Given the description of an element on the screen output the (x, y) to click on. 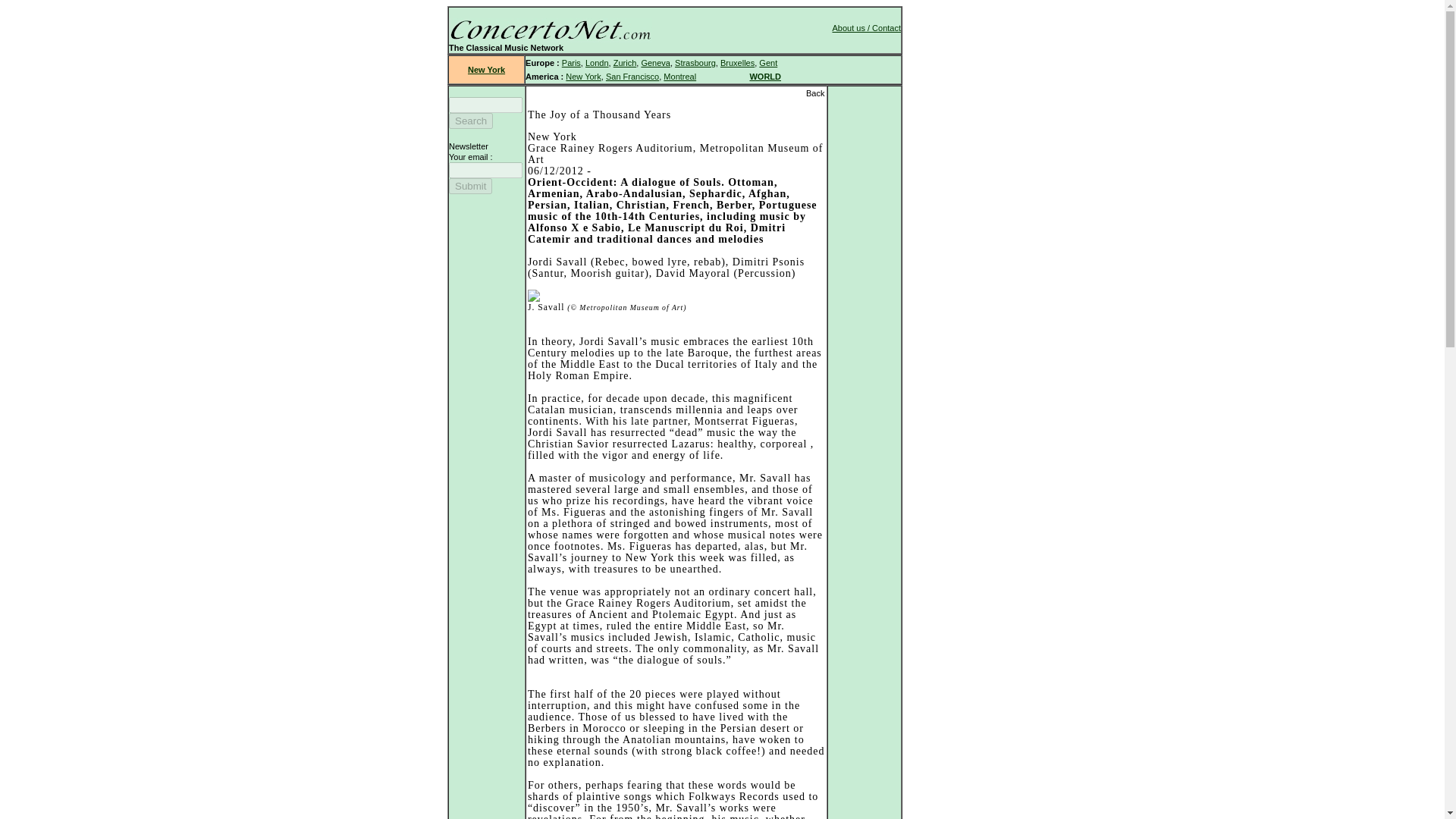
Geneva (654, 62)
Search (470, 120)
Paris (571, 62)
Zurich (624, 62)
New York (486, 69)
Back (815, 92)
Strasbourg (695, 62)
Submit (470, 186)
Gent (767, 62)
Londn (596, 62)
San Francisco (632, 76)
Search (470, 120)
Submit (470, 186)
WORLD (764, 76)
Bruxelles (737, 62)
